Given the description of an element on the screen output the (x, y) to click on. 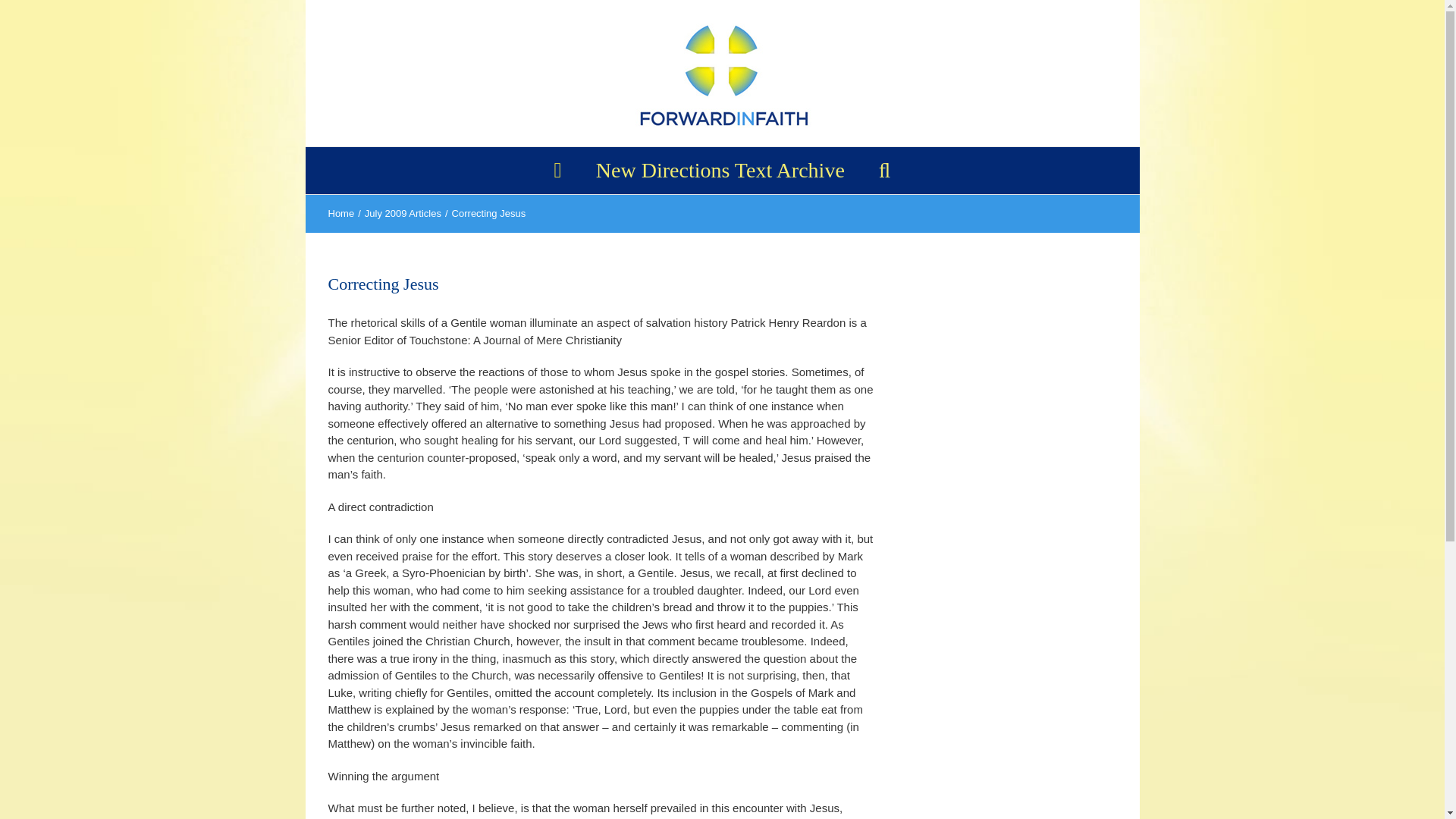
July 2009 Articles (403, 213)
New Directions Directions (719, 170)
New Directions Text Archive (719, 170)
Home (340, 213)
